Given the description of an element on the screen output the (x, y) to click on. 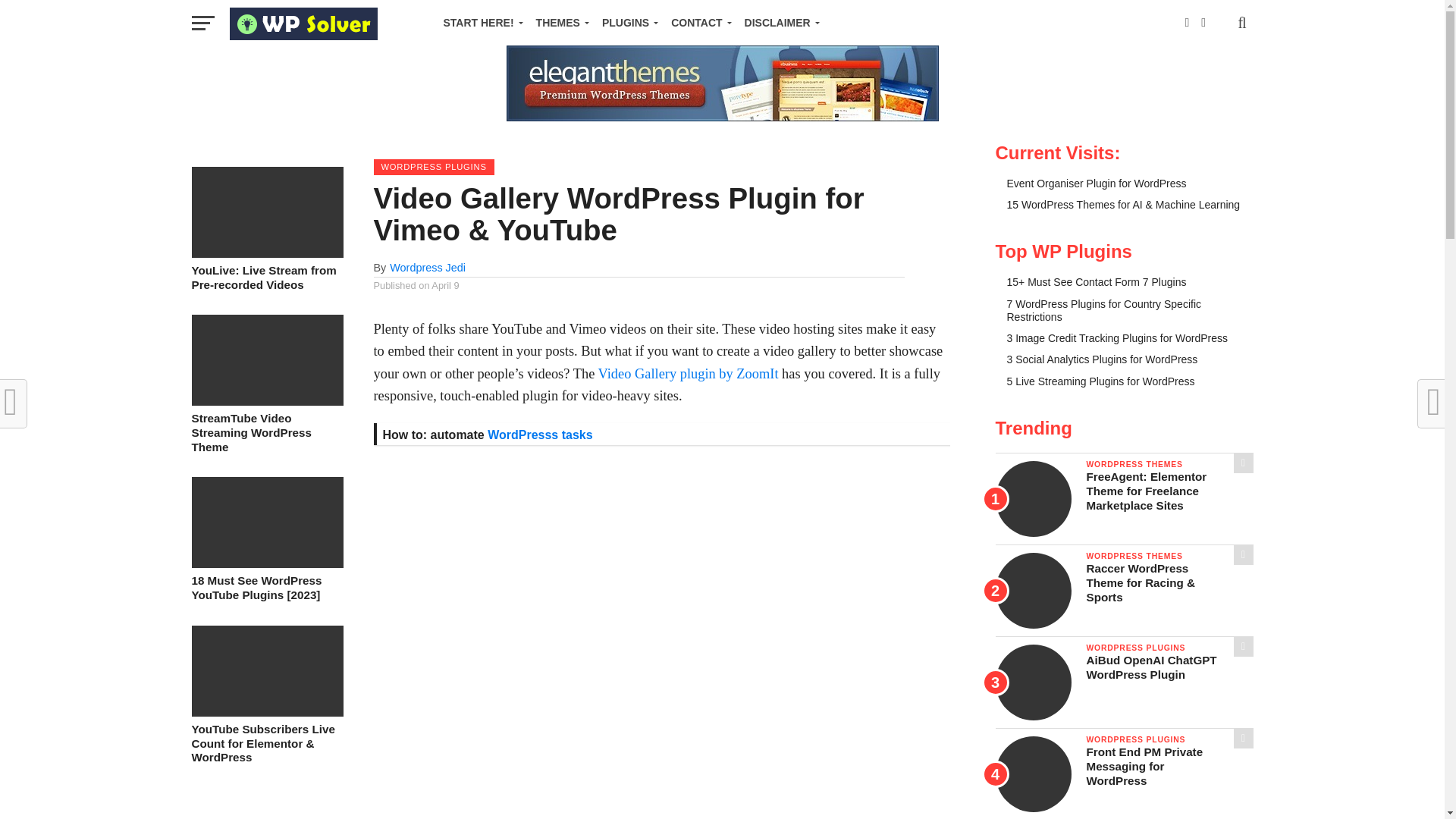
YouLive: Live Stream from Pre-recorded Videos (266, 253)
Posts by Wordpress Jedi (427, 267)
START HERE! (479, 22)
StreamTube Video Streaming WordPress Theme (266, 400)
